Given the description of an element on the screen output the (x, y) to click on. 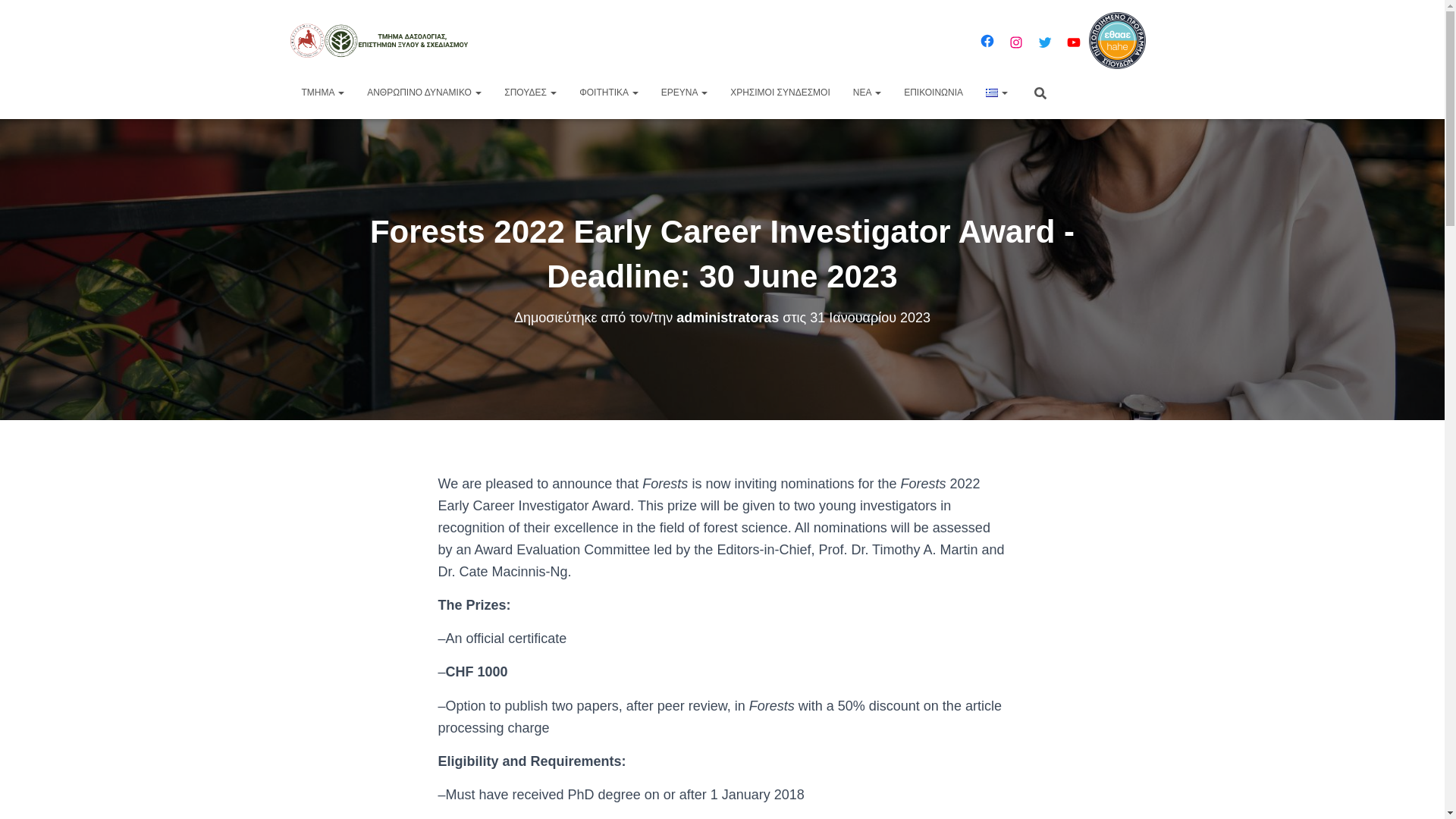
Twitter (1044, 42)
Facebook (986, 40)
Instagram (1016, 42)
YouTube (1073, 42)
